Given the description of an element on the screen output the (x, y) to click on. 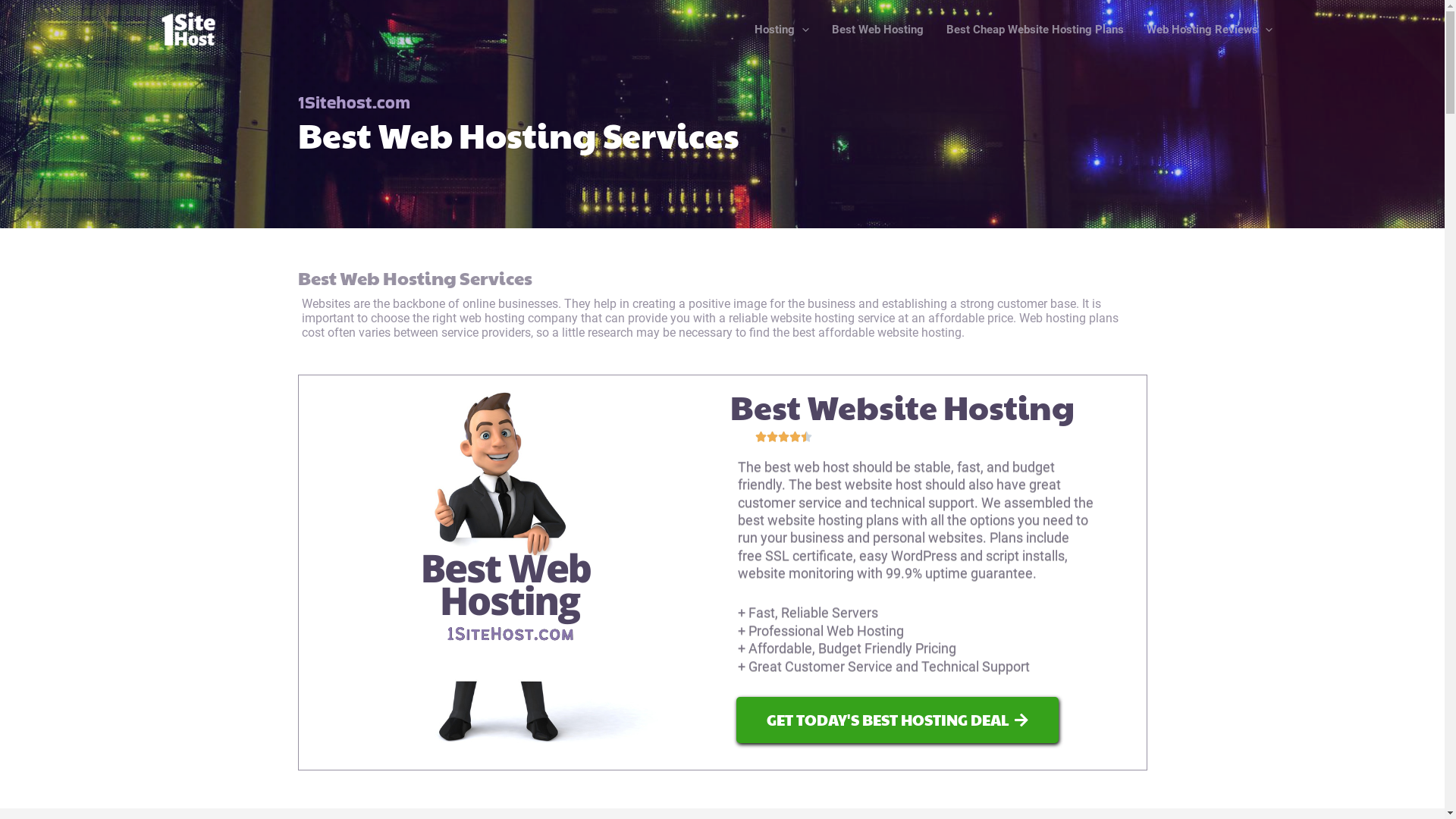
Web Hosting Reviews Element type: text (1209, 29)
Hosting Element type: text (781, 29)
Best Cheap Website Hosting Plans Element type: text (1035, 29)
Best Web Hosting Element type: text (877, 29)
GET TODAY'S BEST HOSTING DEAL Element type: text (896, 719)
